Given the description of an element on the screen output the (x, y) to click on. 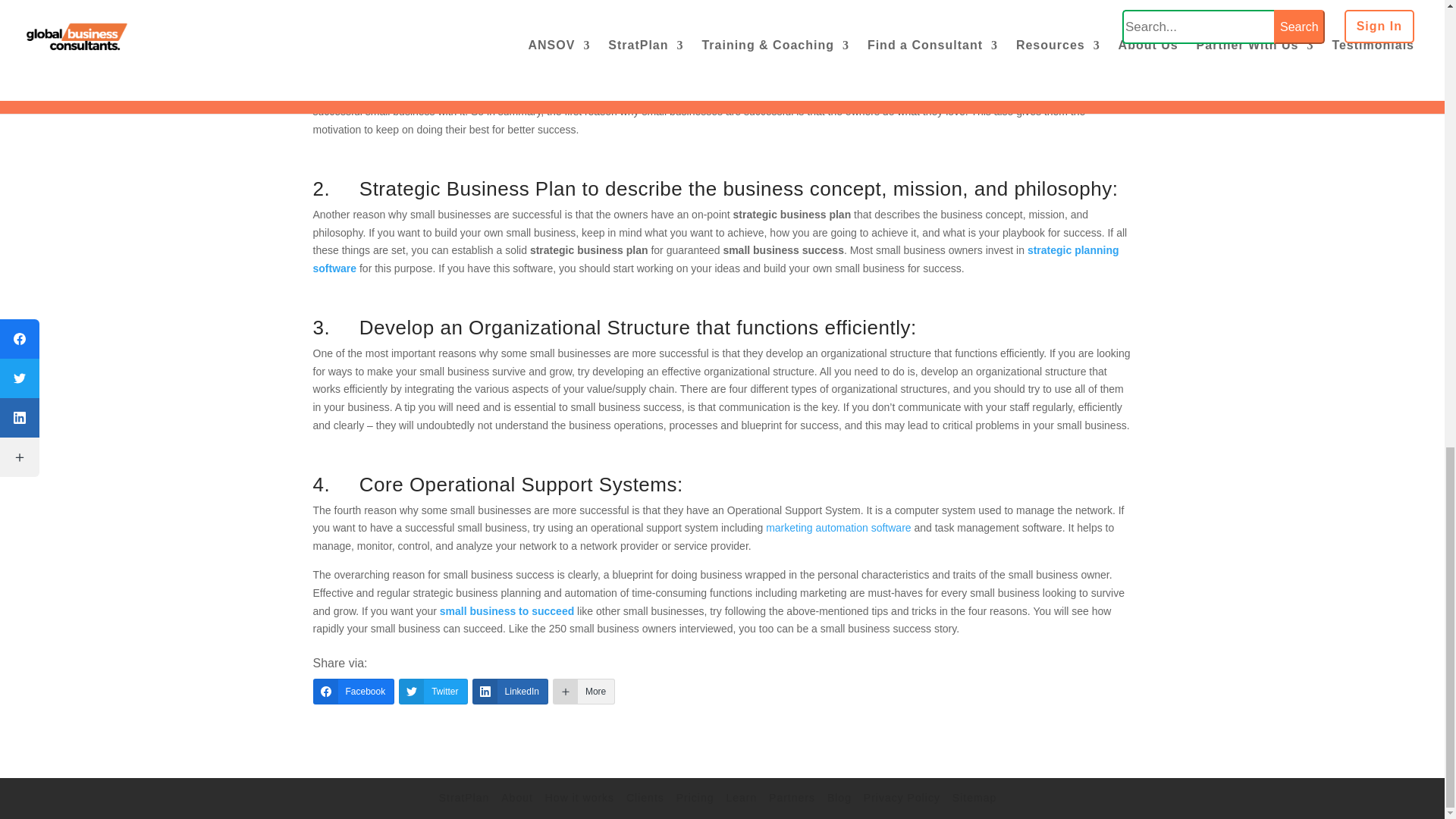
marketing automation software (838, 527)
Facebook (353, 691)
strategic planning software (715, 259)
StratPlan (464, 797)
LinkedIn (509, 691)
More (583, 691)
small business to succeed (506, 611)
Twitter (432, 691)
